Given the description of an element on the screen output the (x, y) to click on. 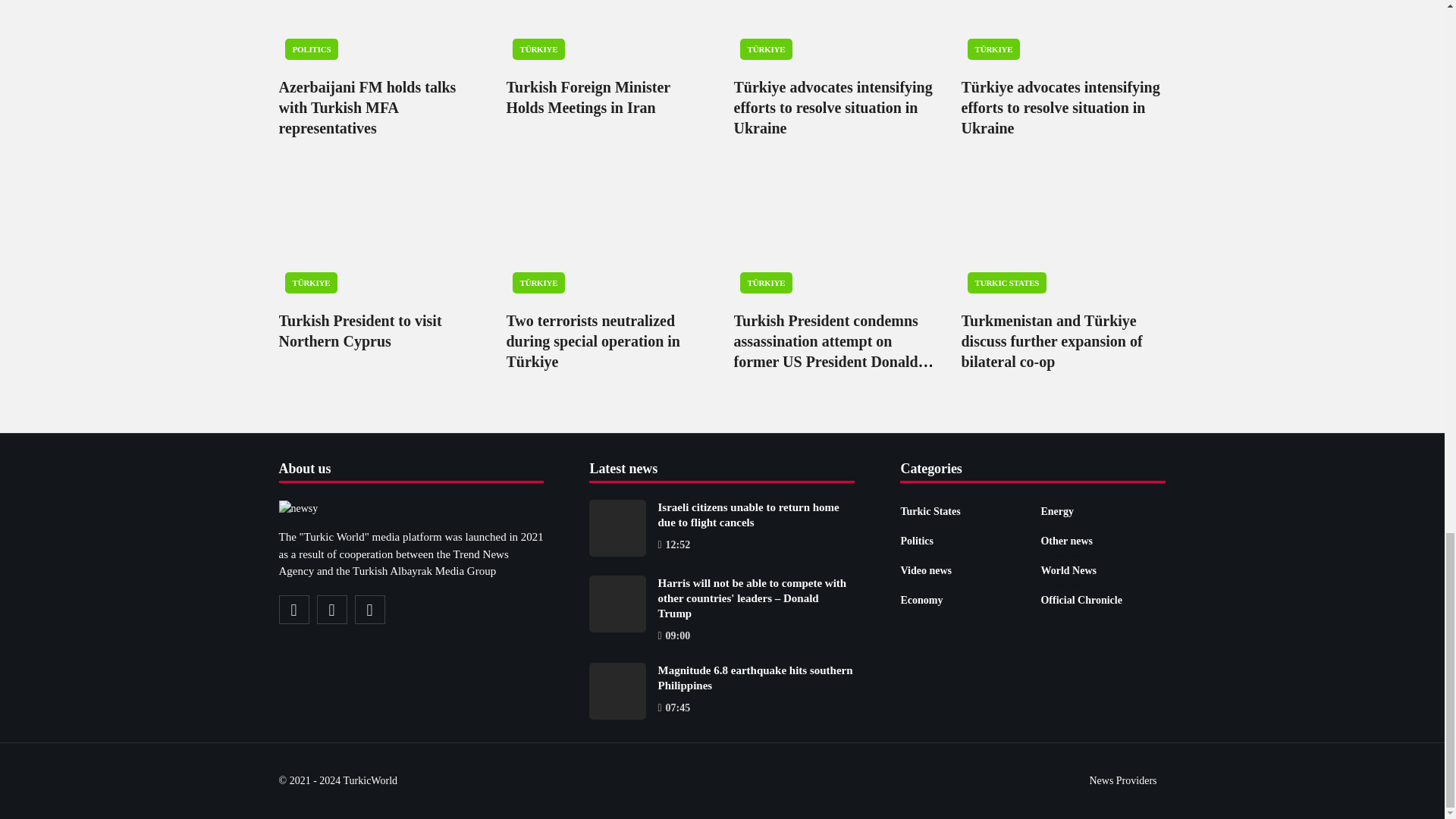
Azerbaijani FM holds talks with Turkish MFA representatives (368, 107)
Turkish Foreign Minister Holds Meetings in Iran (608, 33)
Azerbaijani FM holds talks with Turkish MFA representatives (381, 33)
Turkish Foreign Minister Holds Meetings in Iran (588, 97)
